Given the description of an element on the screen output the (x, y) to click on. 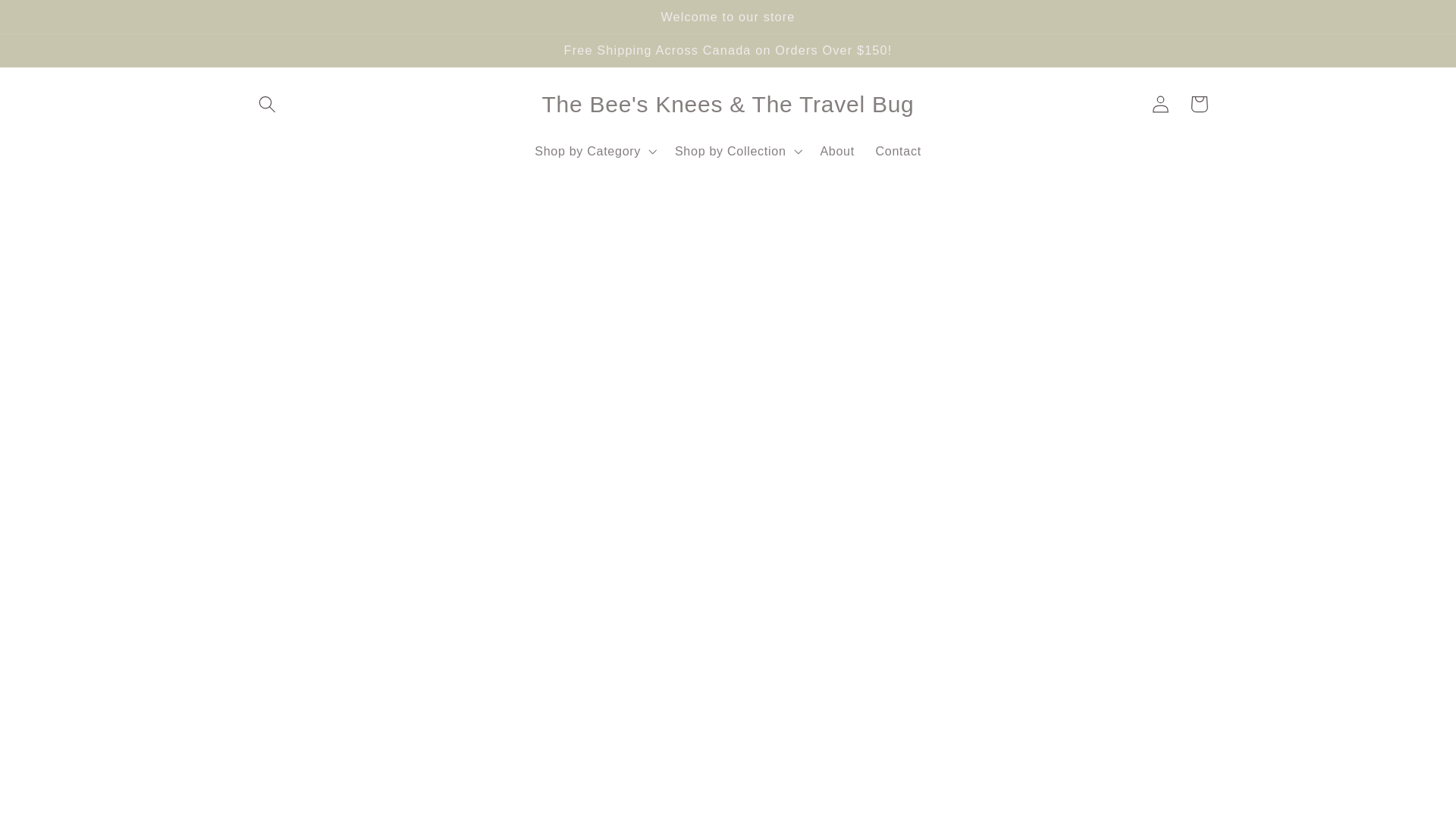
Skip to content (52, 20)
